Given the description of an element on the screen output the (x, y) to click on. 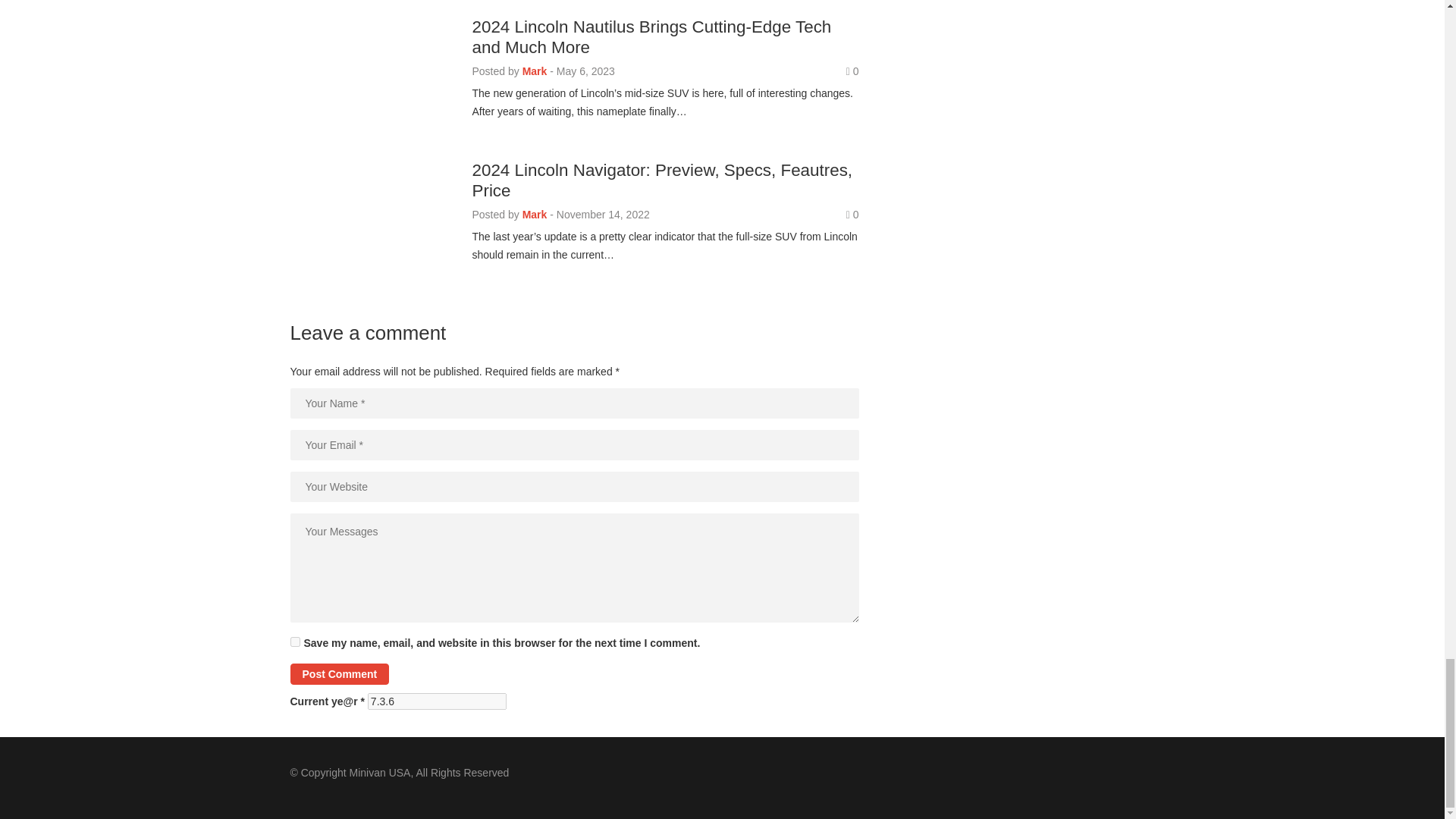
Post Comment (338, 673)
Posts by Mark (534, 70)
Posts by Mark (534, 214)
7.3.6 (437, 701)
yes (294, 642)
